Given the description of an element on the screen output the (x, y) to click on. 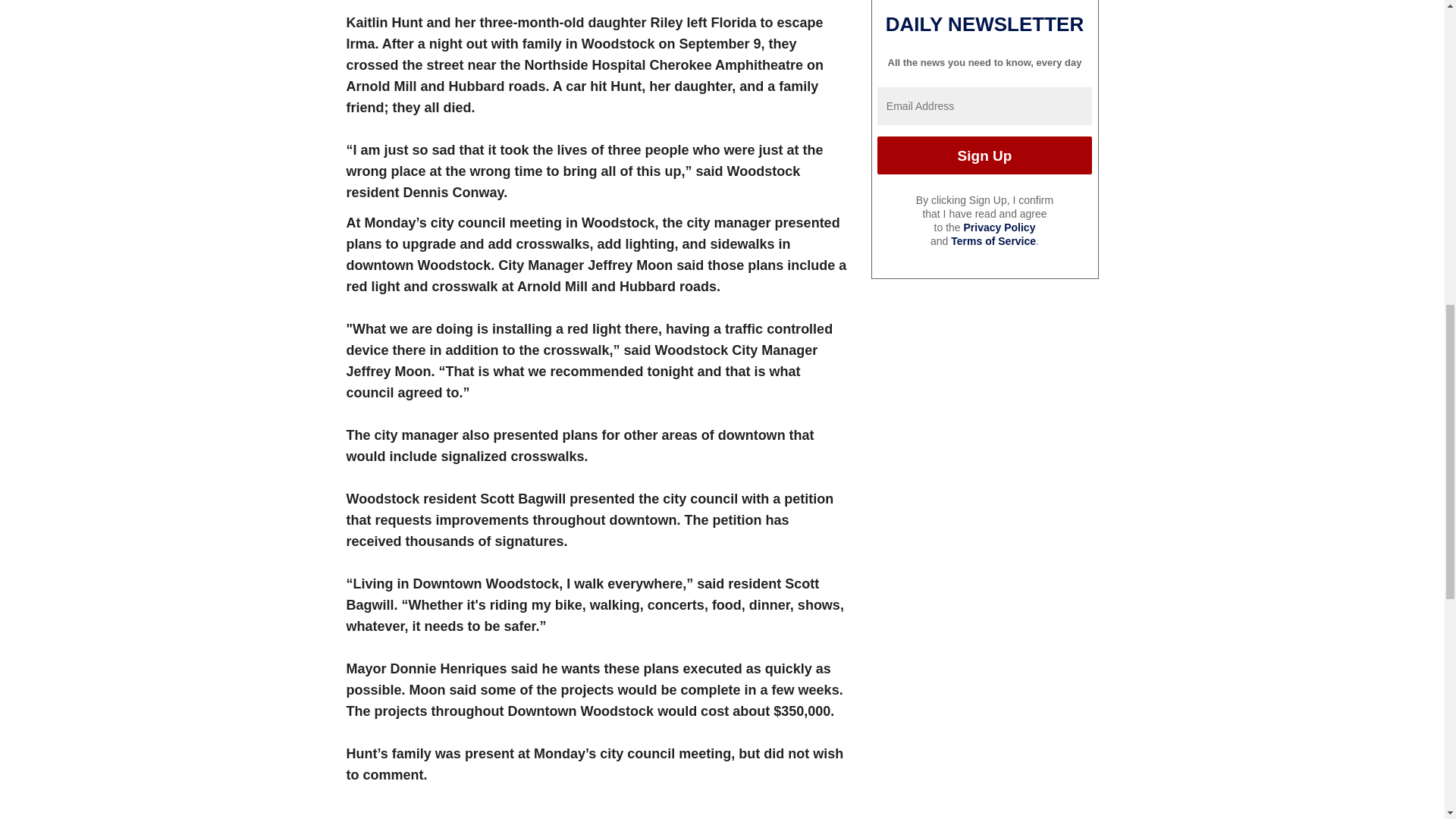
Sign Up (984, 155)
